Given the description of an element on the screen output the (x, y) to click on. 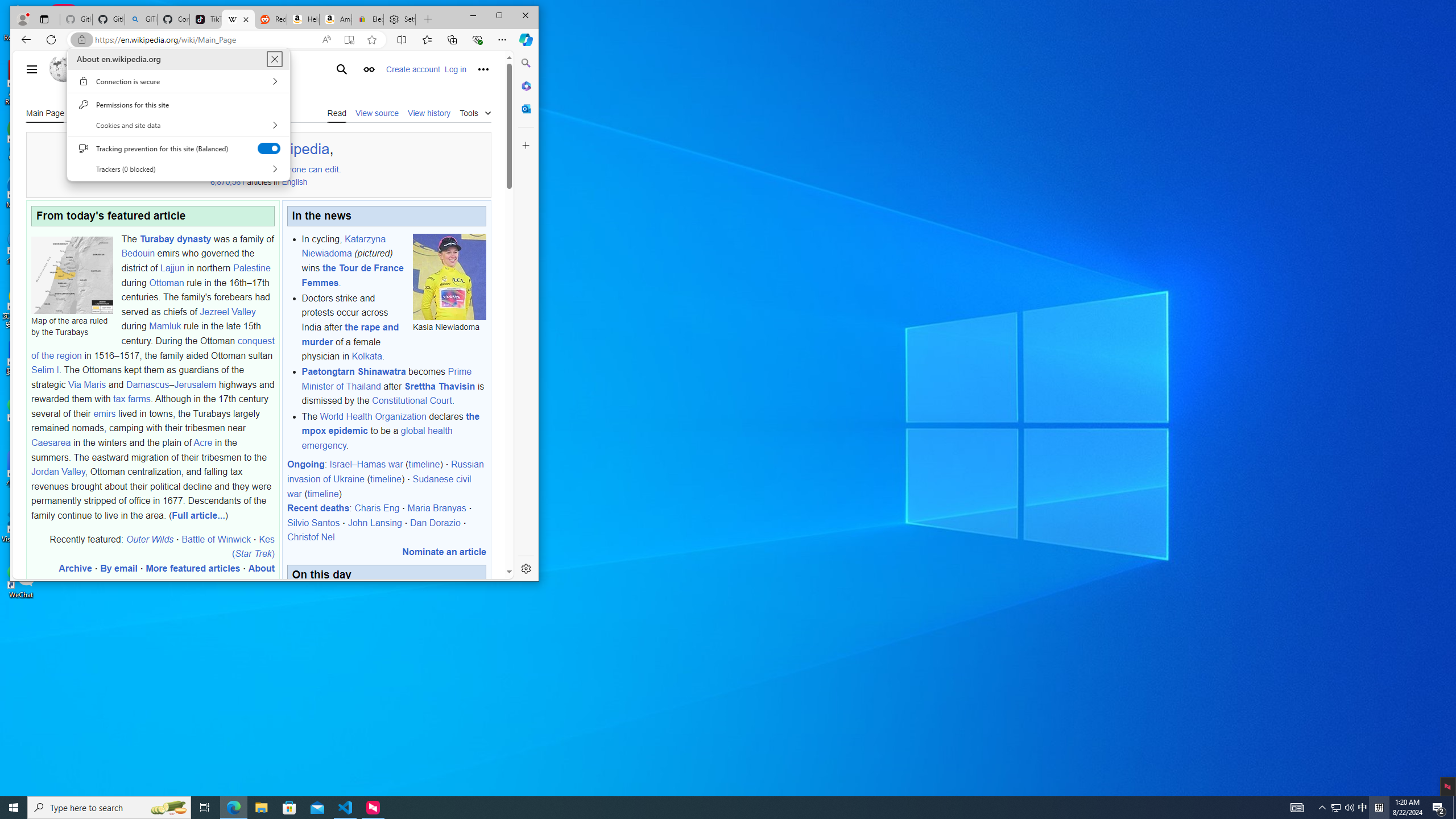
About en.wikipedia.org (1362, 807)
Srettha Thavisin (274, 58)
World Health Organization (439, 385)
Map of the area ruled by the Turabays (373, 416)
Nominate an article (71, 274)
